Given the description of an element on the screen output the (x, y) to click on. 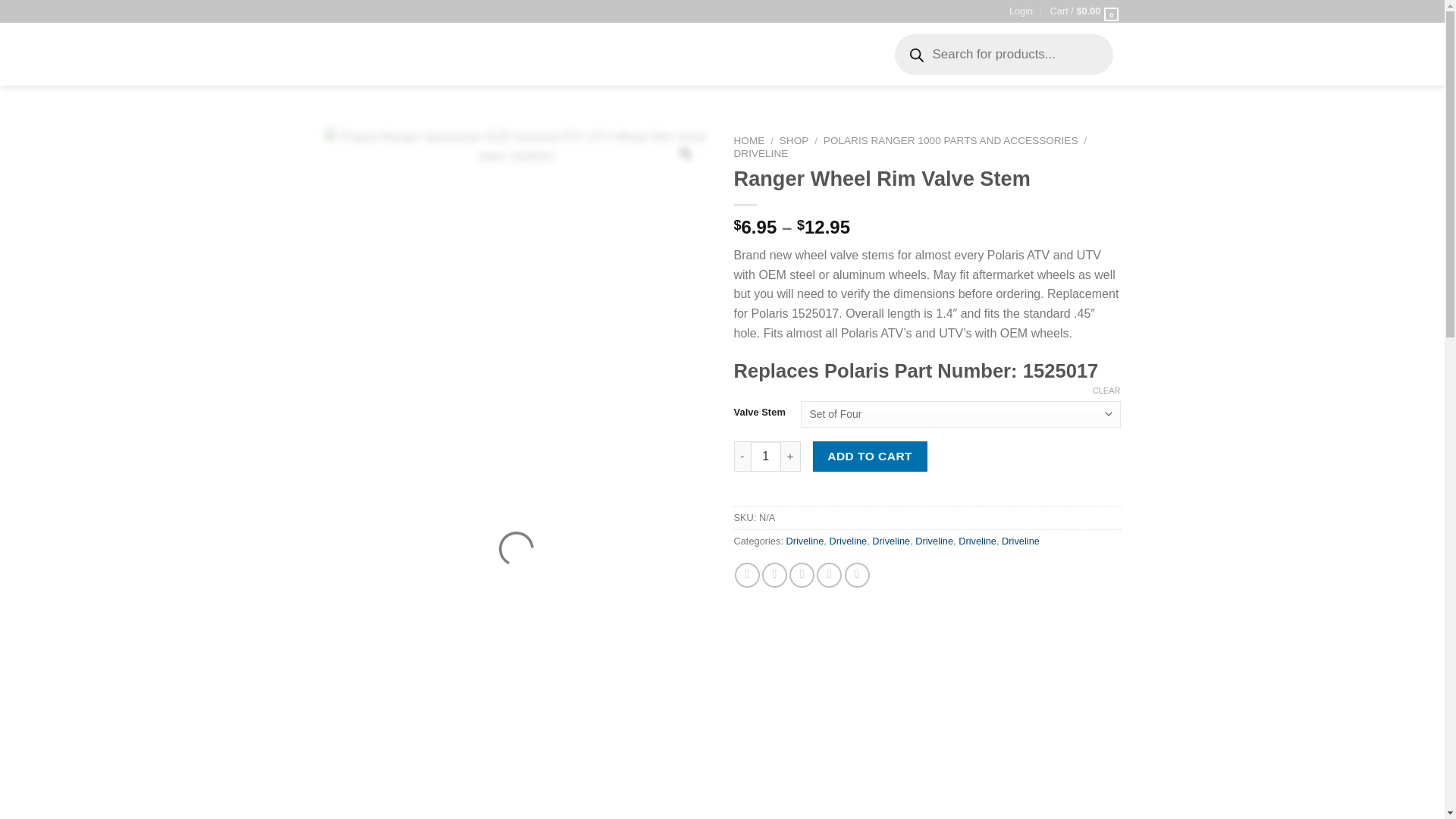
Products (543, 39)
SHOP (793, 140)
Login (1020, 11)
1 (765, 456)
HOME (749, 140)
Become a Dealer (713, 69)
Gallery (861, 69)
About Us (853, 39)
Employment (628, 69)
Sponsorship (799, 69)
